Given the description of an element on the screen output the (x, y) to click on. 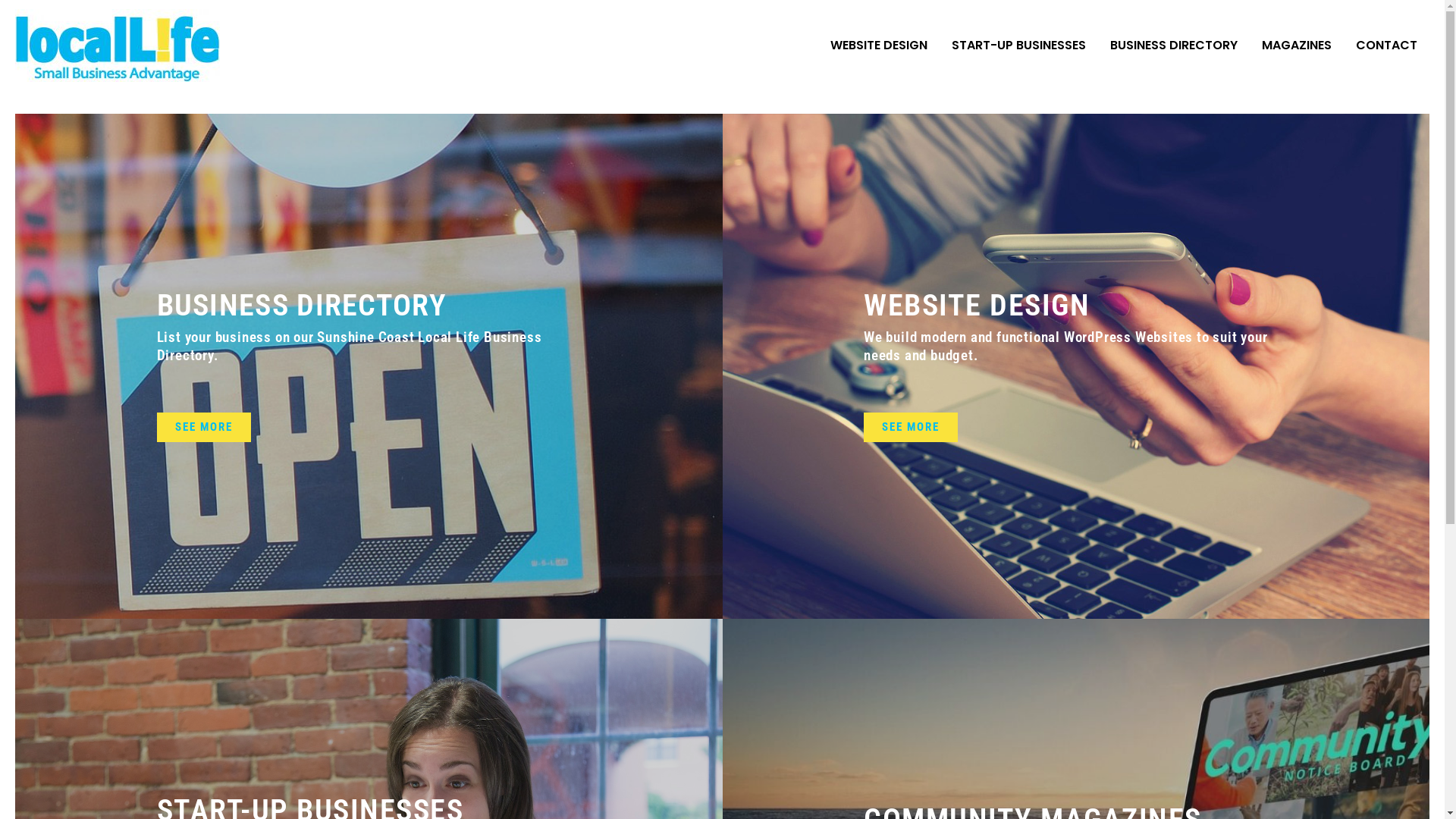
SEE MORE Element type: text (203, 427)
WEBSITE DESIGN Element type: text (878, 45)
BUSINESS DIRECTORY Element type: text (300, 305)
SEE MORE Element type: text (910, 427)
START-UP BUSINESSES Element type: text (1018, 45)
CONTACT Element type: text (1386, 45)
BUSINESS DIRECTORY Element type: text (1173, 45)
WEBSITE DESIGN Element type: text (976, 305)
MAGAZINES Element type: text (1296, 45)
